Given the description of an element on the screen output the (x, y) to click on. 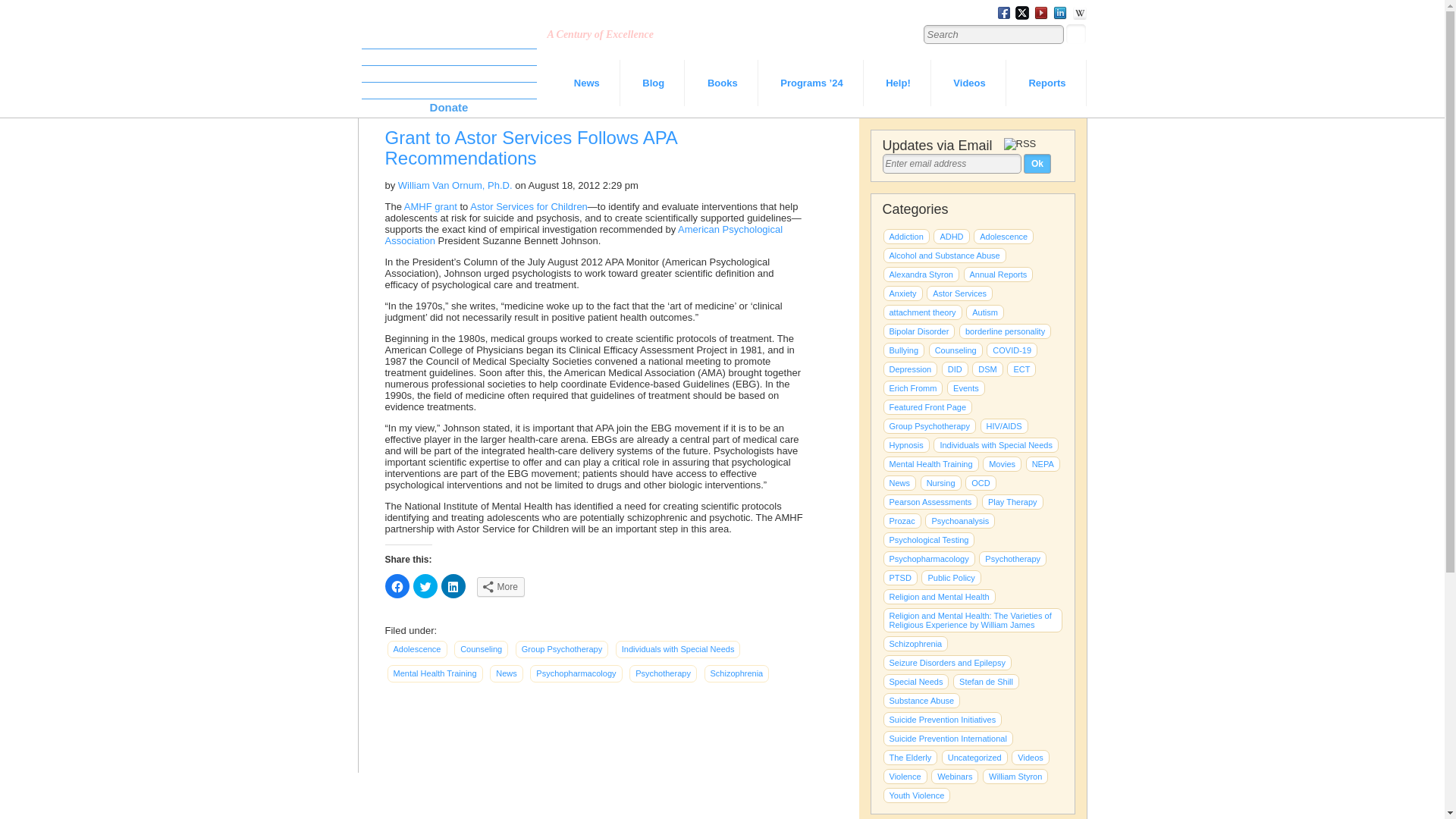
American Psychological Association (584, 234)
William Van Ornum, Ph.D. (454, 184)
Online courses offered for CEU (954, 776)
Donate (448, 107)
Videos (969, 82)
Books (722, 82)
About (448, 57)
Click to share on LinkedIn (453, 586)
Group Psychotherapy (561, 649)
More (500, 587)
